Given the description of an element on the screen output the (x, y) to click on. 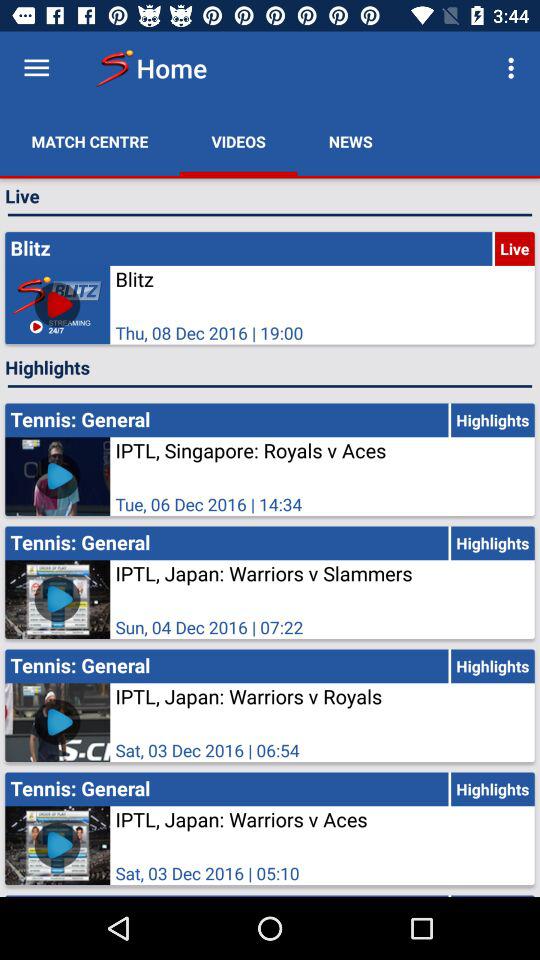
tap the icon above live (513, 67)
